Given the description of an element on the screen output the (x, y) to click on. 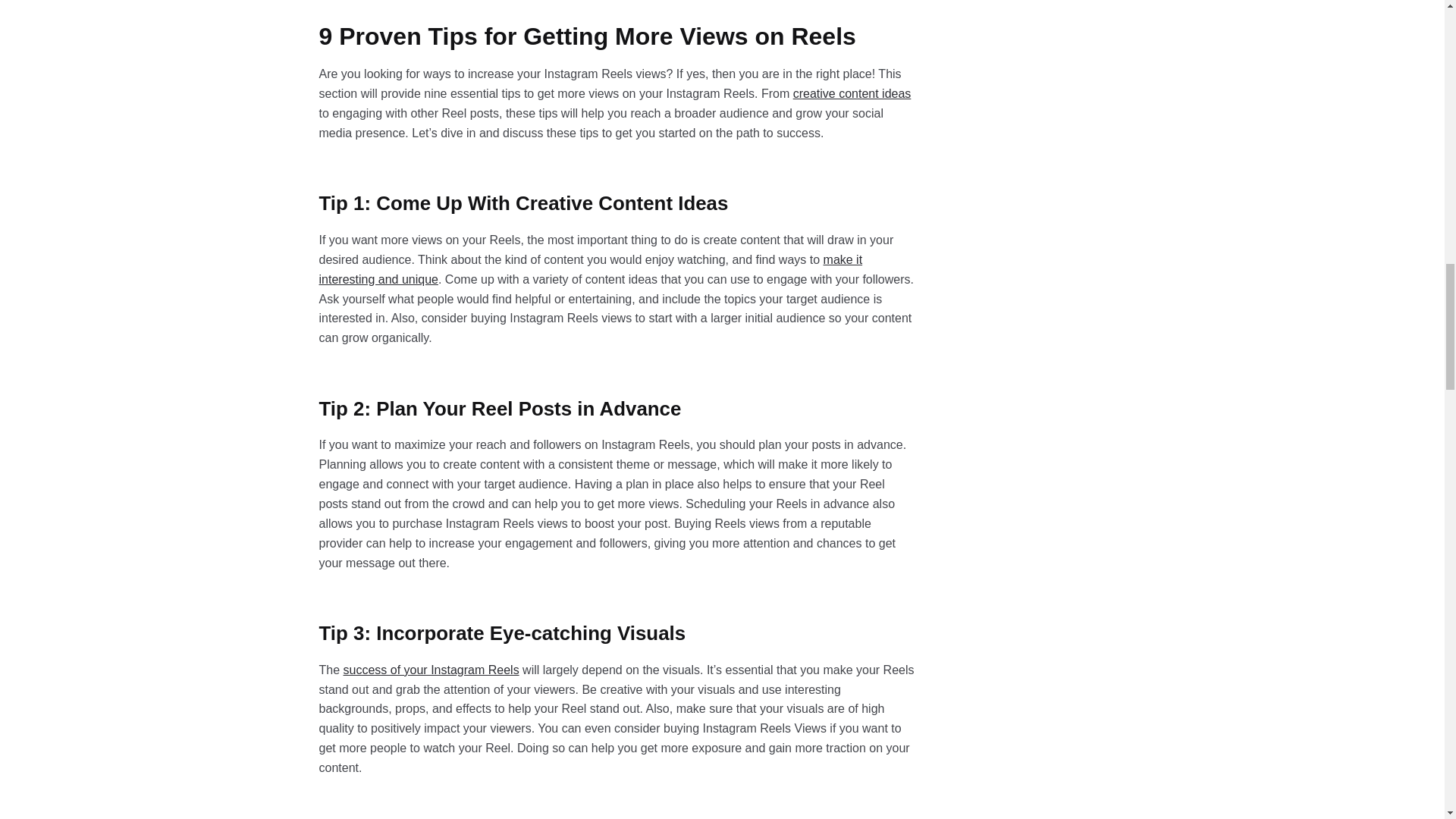
make it interesting and unique (590, 269)
creative content ideas (852, 92)
success of your Instagram Reels (431, 669)
